Given the description of an element on the screen output the (x, y) to click on. 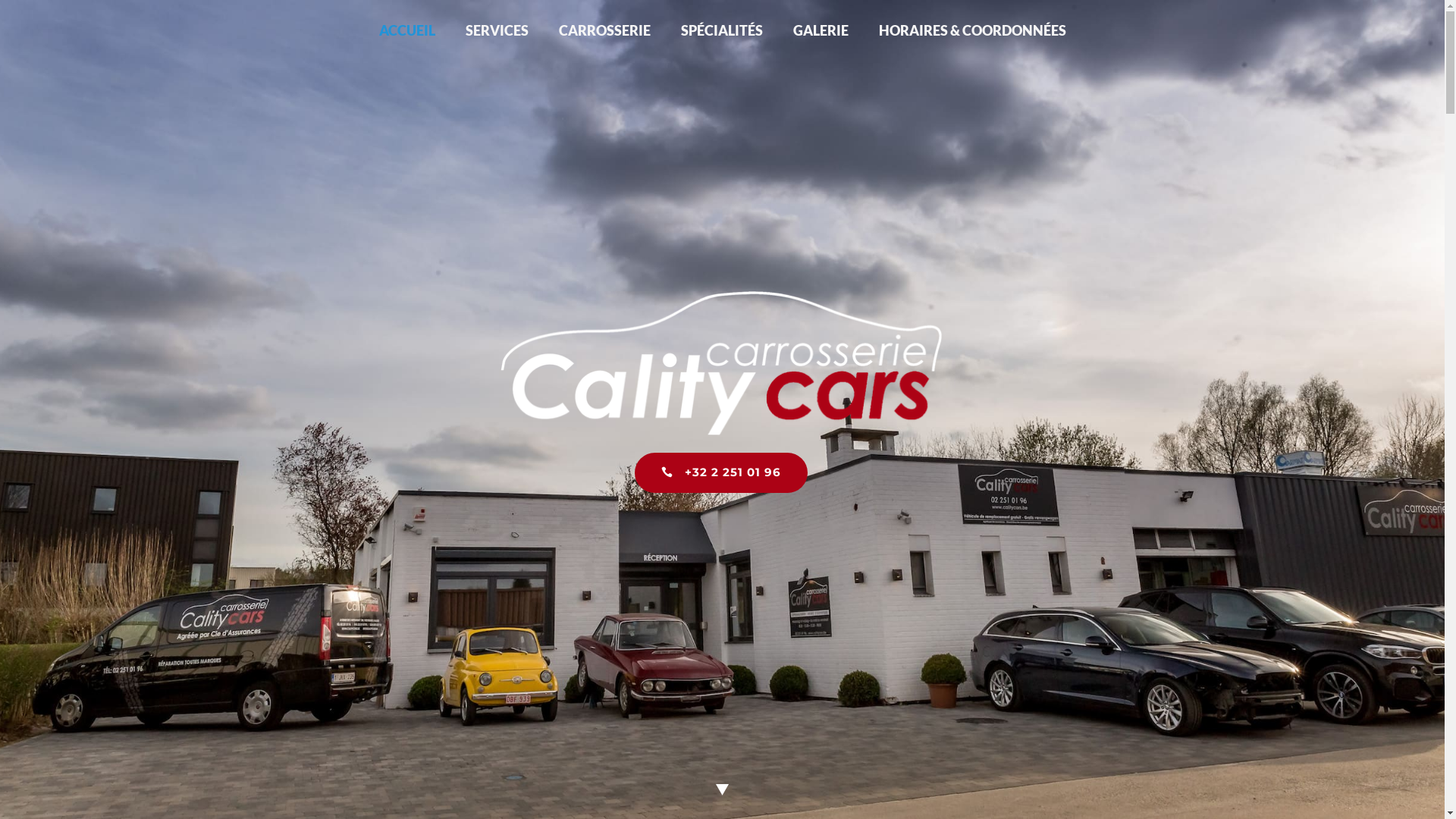
ACCUEIL Element type: text (407, 29)
+32 2 251 01 96 Element type: text (720, 472)
SERVICES Element type: text (496, 29)
CARROSSERIE Element type: text (603, 29)
GALERIE Element type: text (820, 29)
